Given the description of an element on the screen output the (x, y) to click on. 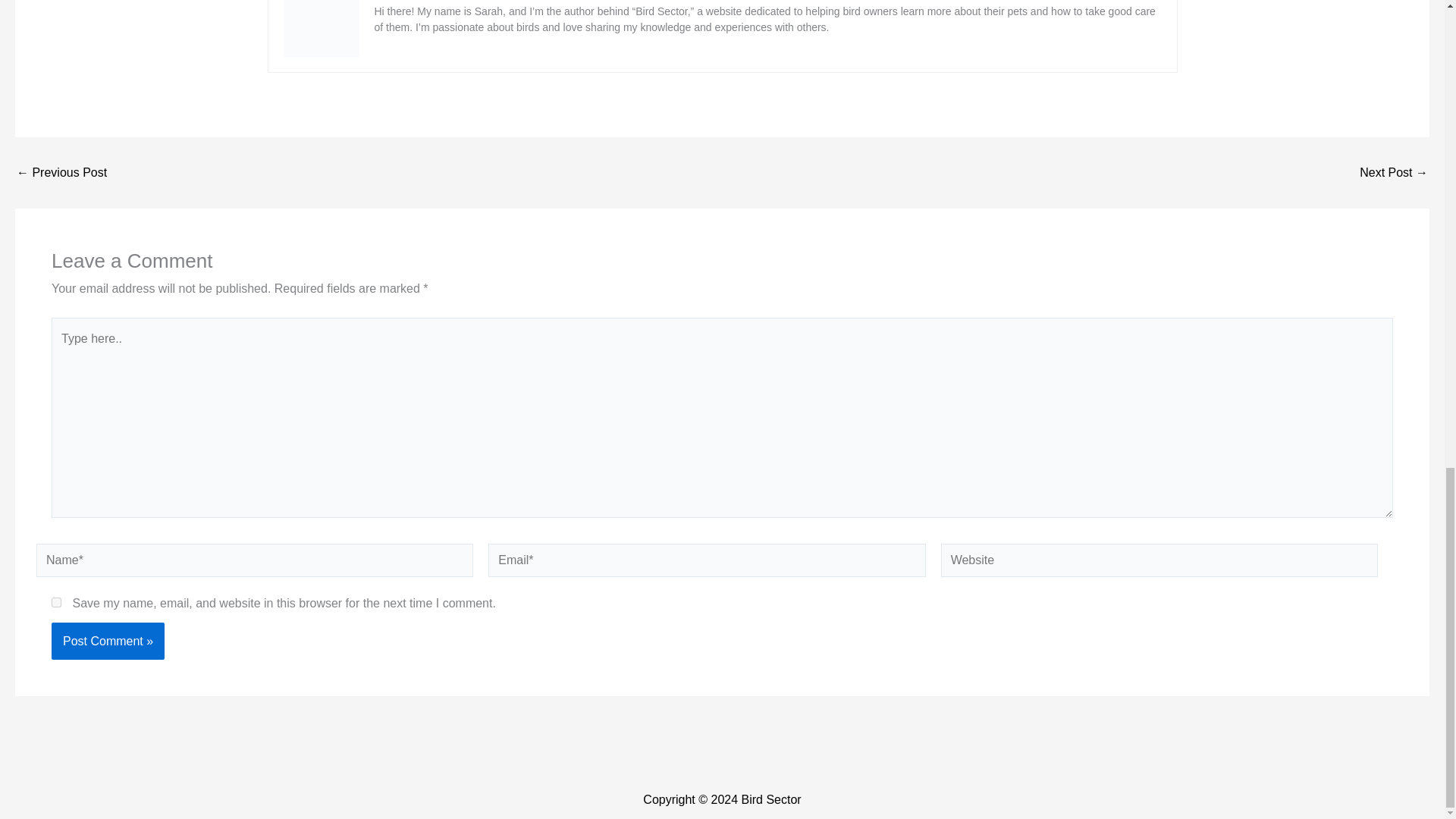
yes (55, 602)
Can African Grey Parrot Eat Fish? (61, 173)
Can African Grey Parrot Eat Honey? (1393, 173)
